Given the description of an element on the screen output the (x, y) to click on. 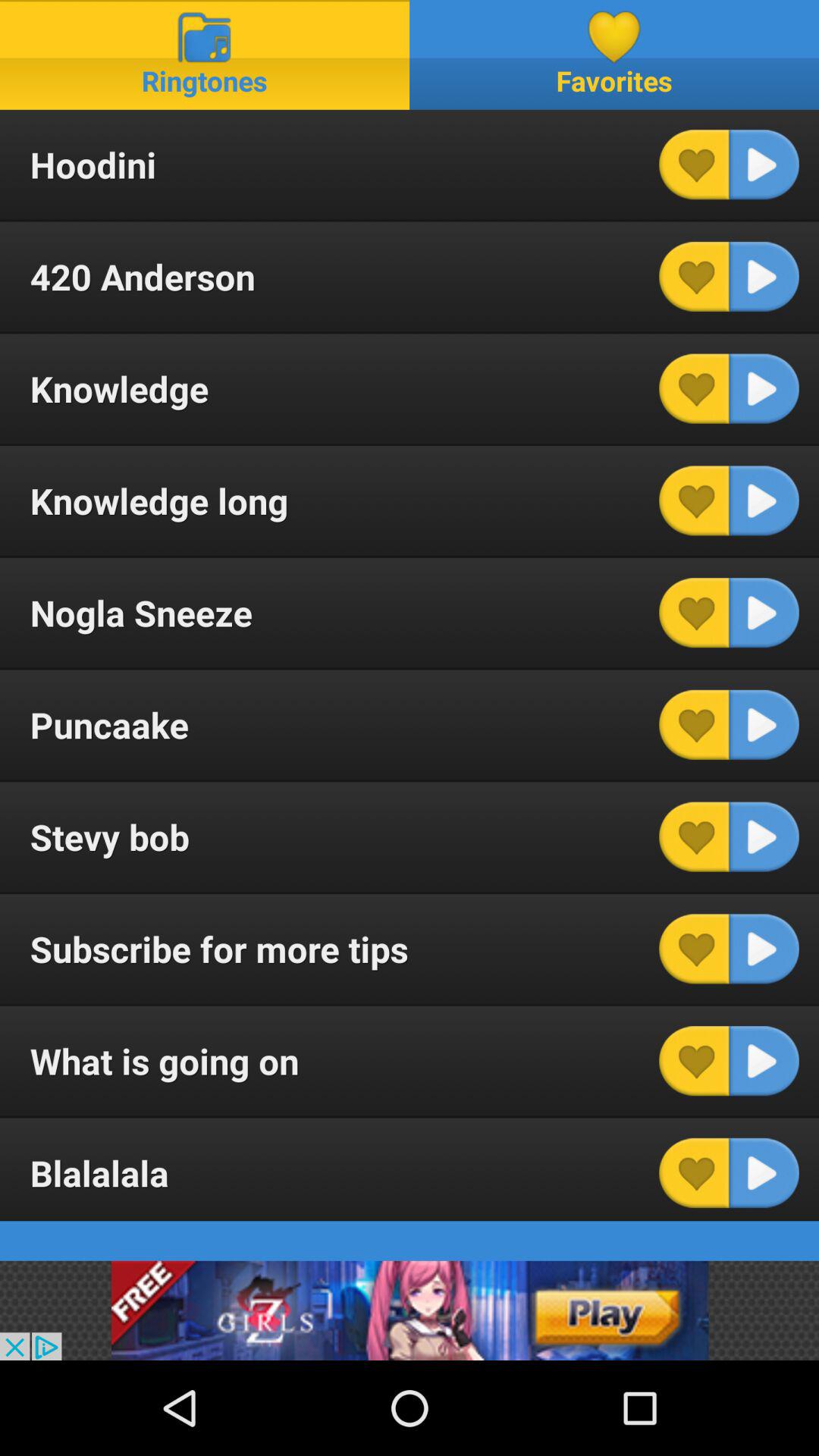
select option (764, 1060)
